Given the description of an element on the screen output the (x, y) to click on. 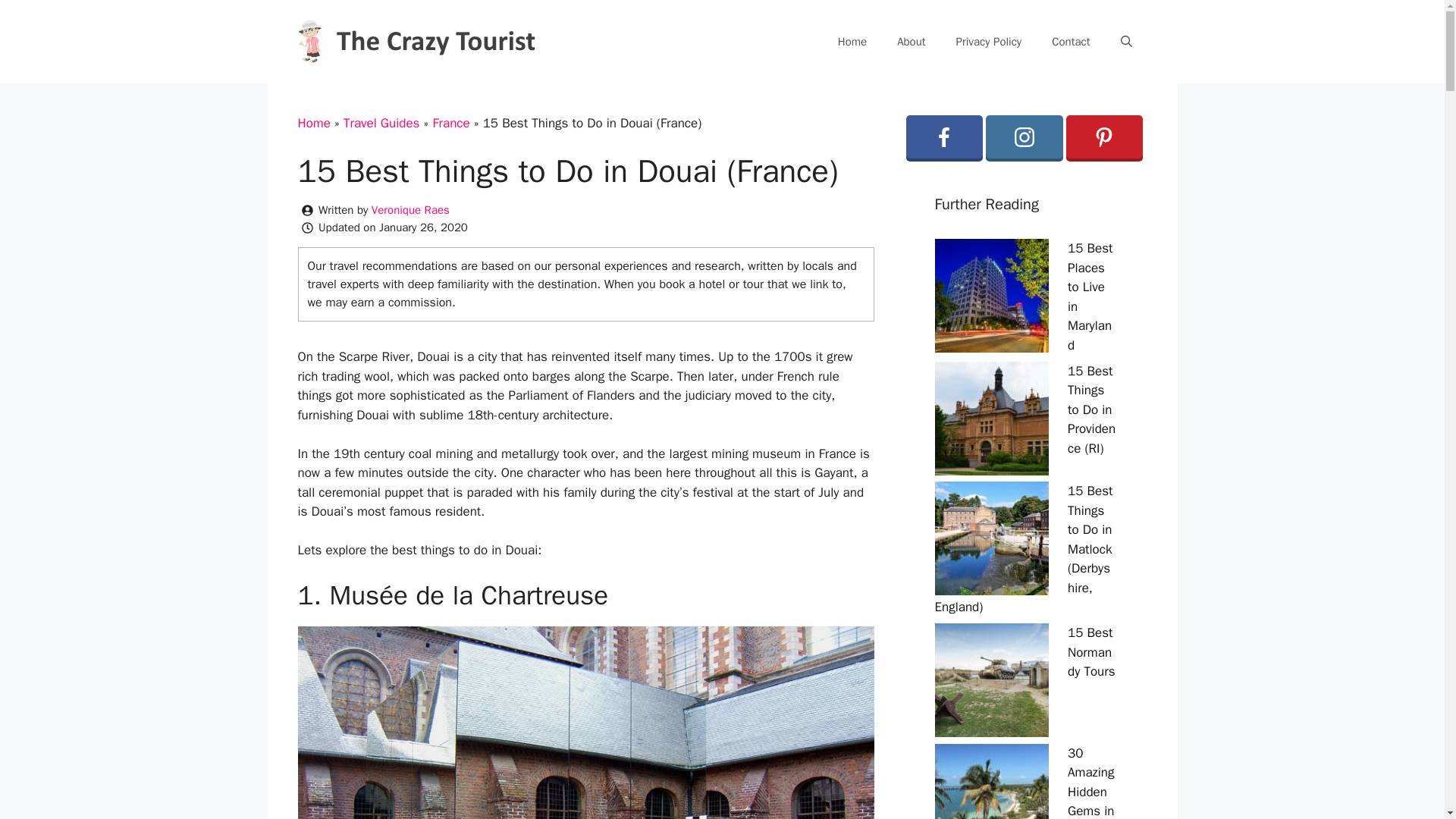
Home (852, 41)
France (450, 123)
Veronique Raes (410, 210)
Travel Guides (381, 123)
Contact (1070, 41)
Home (313, 123)
About (911, 41)
Privacy Policy (988, 41)
